Given the description of an element on the screen output the (x, y) to click on. 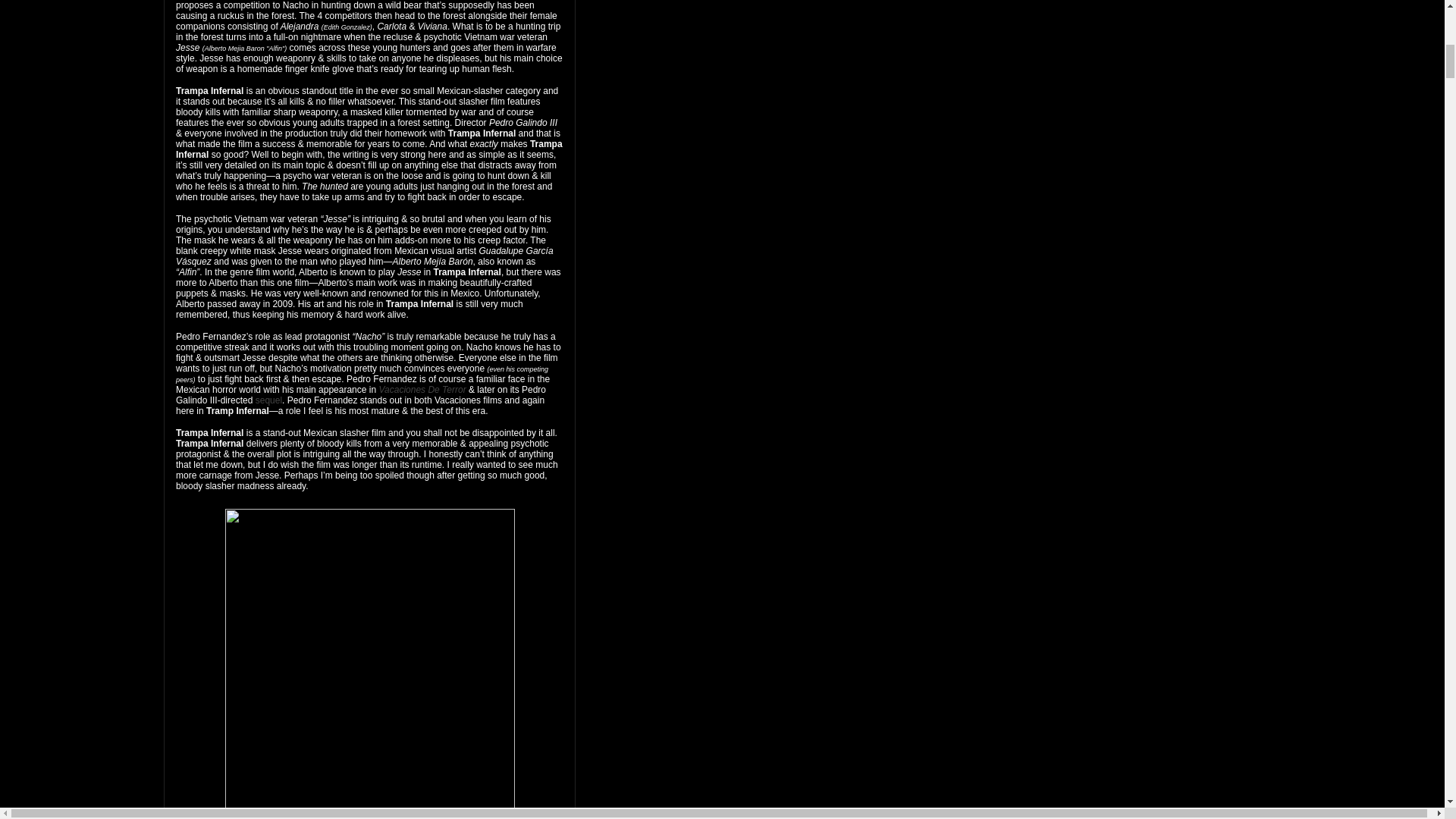
Vacaciones De Terror (421, 389)
sequel (269, 399)
